Given the description of an element on the screen output the (x, y) to click on. 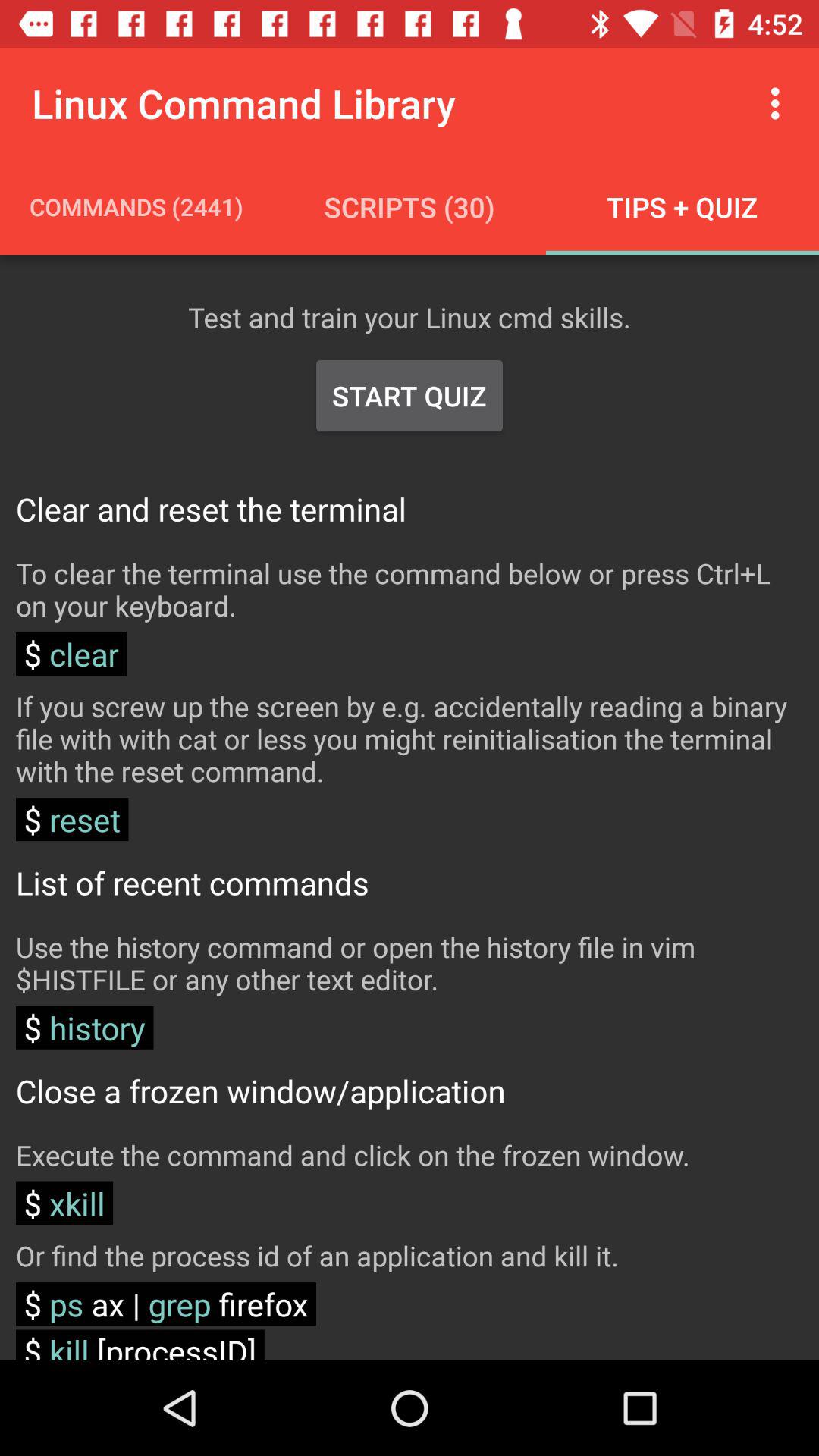
launch item above clear and reset (409, 395)
